Given the description of an element on the screen output the (x, y) to click on. 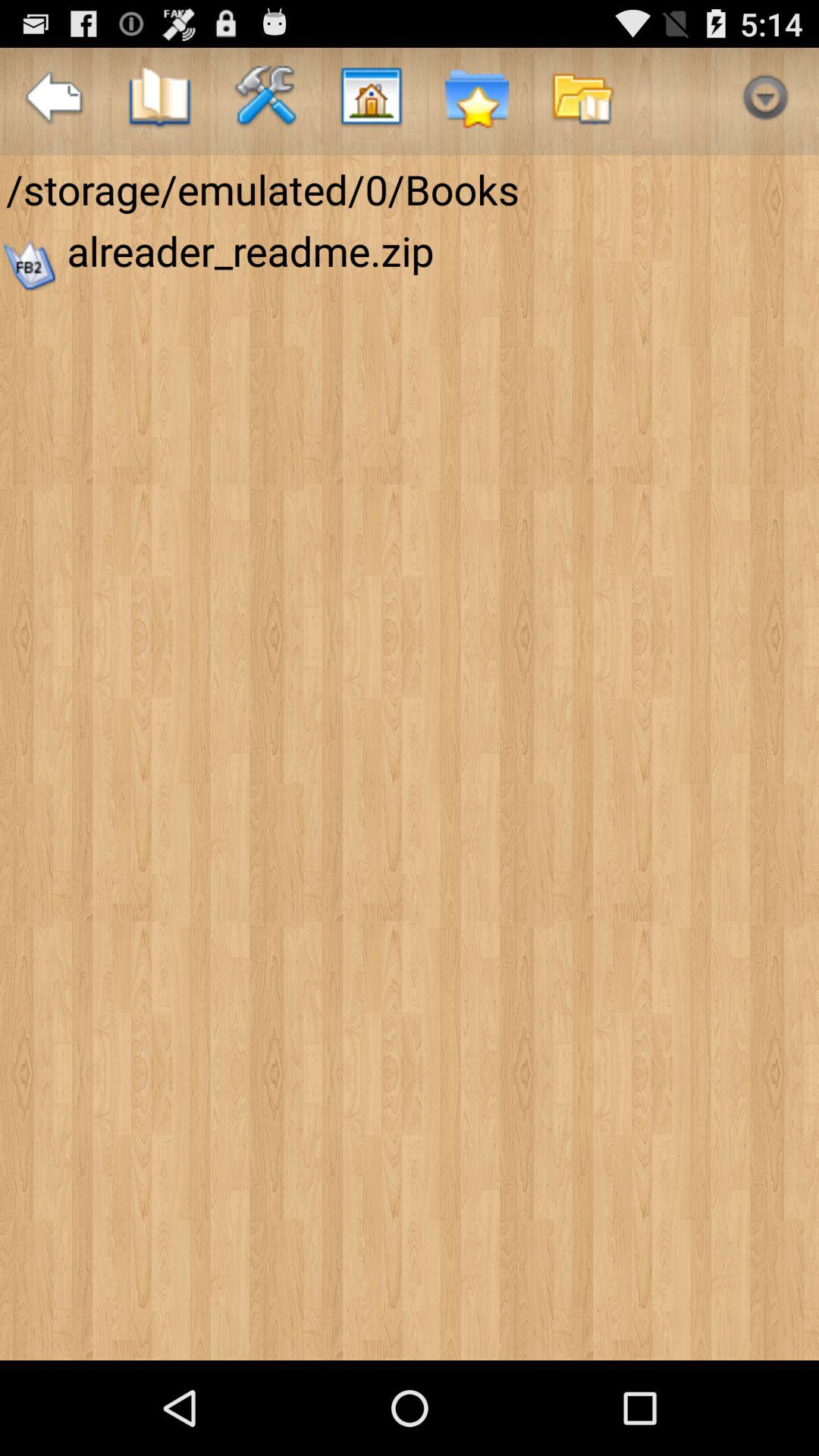
turn on item above storage emulated 0 (53, 101)
